Given the description of an element on the screen output the (x, y) to click on. 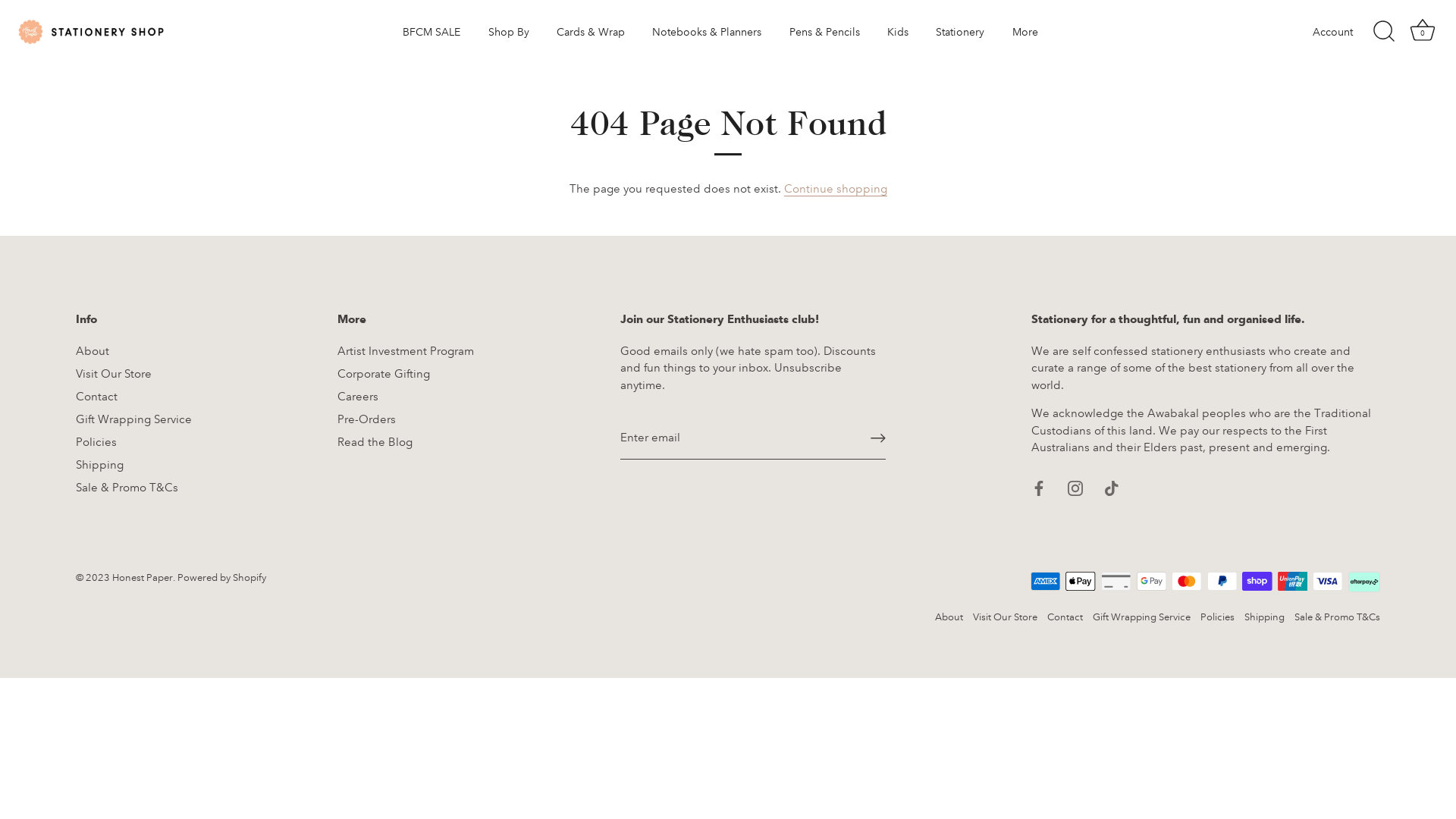
Pens & Pencils Element type: text (823, 31)
Policies Element type: text (1217, 617)
BFCM SALE Element type: text (431, 31)
Basket
0 Element type: text (1422, 31)
Cards & Wrap Element type: text (590, 31)
About Element type: text (949, 617)
More Element type: text (1025, 31)
Powered by Shopify Element type: text (221, 577)
Pre-Orders Element type: text (366, 419)
Shipping Element type: text (1264, 617)
Gift Wrapping Service Element type: text (133, 419)
Stationery Element type: text (959, 31)
Shipping Element type: text (99, 464)
Right arrow long Element type: text (877, 437)
Corporate Gifting Element type: text (383, 373)
Kids Element type: text (897, 31)
Shop By Element type: text (507, 31)
Notebooks & Planners Element type: text (706, 31)
Careers Element type: text (357, 396)
Instagram Element type: text (1074, 487)
Policies Element type: text (95, 441)
Sale & Promo T&Cs Element type: text (126, 487)
Honest Paper Element type: text (142, 577)
Contact Element type: text (1064, 617)
Sale & Promo T&Cs Element type: text (1337, 617)
Artist Investment Program Element type: text (405, 350)
About Element type: text (92, 350)
Gift Wrapping Service Element type: text (1141, 617)
Visit Our Store Element type: text (1004, 617)
Account Element type: text (1345, 31)
Contact Element type: text (96, 396)
Visit Our Store Element type: text (113, 373)
Continue shopping Element type: text (835, 189)
Read the Blog Element type: text (374, 441)
